Given the description of an element on the screen output the (x, y) to click on. 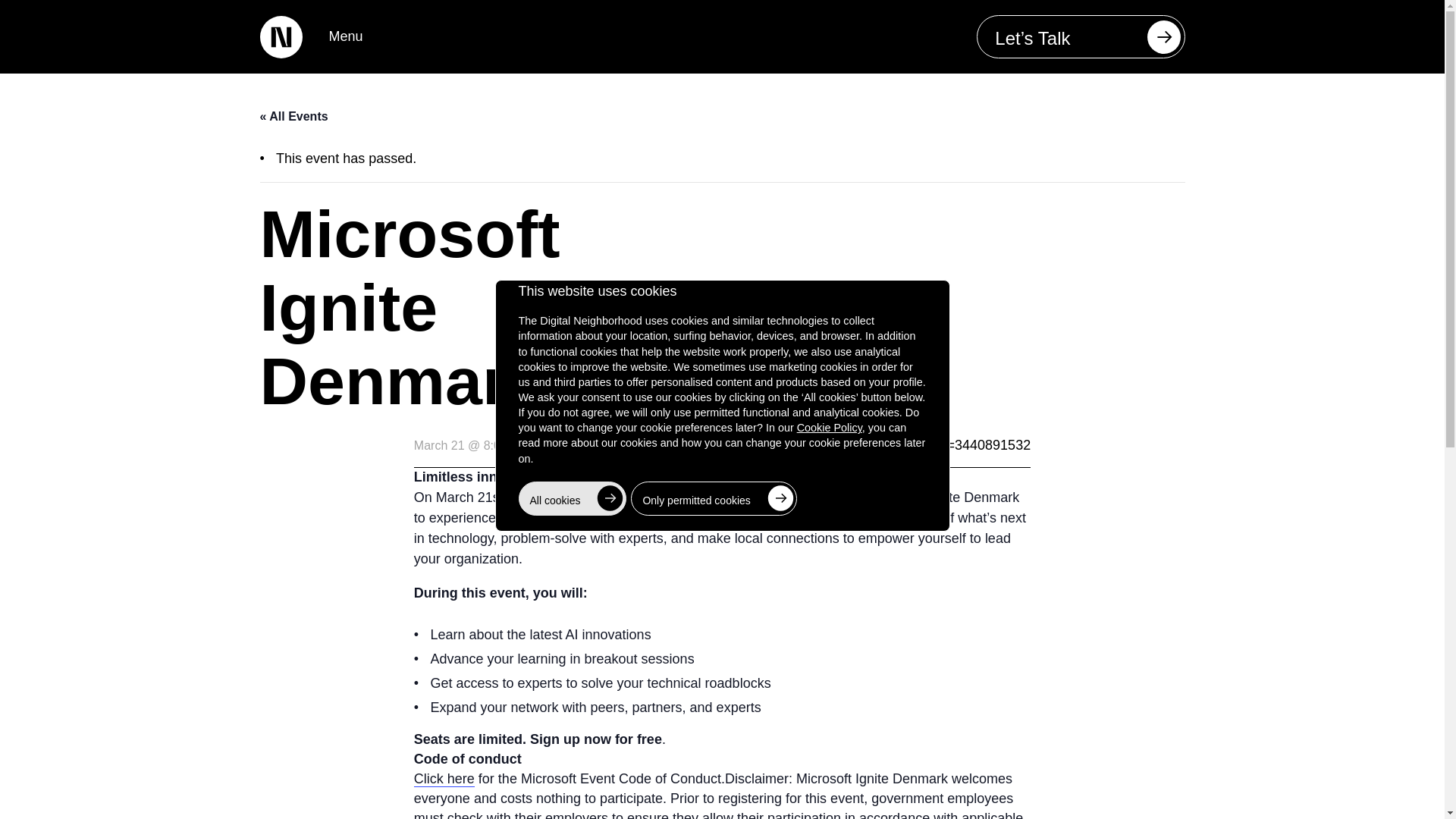
Click here (443, 779)
All cookies (572, 498)
The Digital Neighborhood (280, 36)
Only permitted cookies (713, 498)
Cookie Policy (828, 427)
Cookie Policy (828, 427)
Let's Talk (1080, 36)
